Given the description of an element on the screen output the (x, y) to click on. 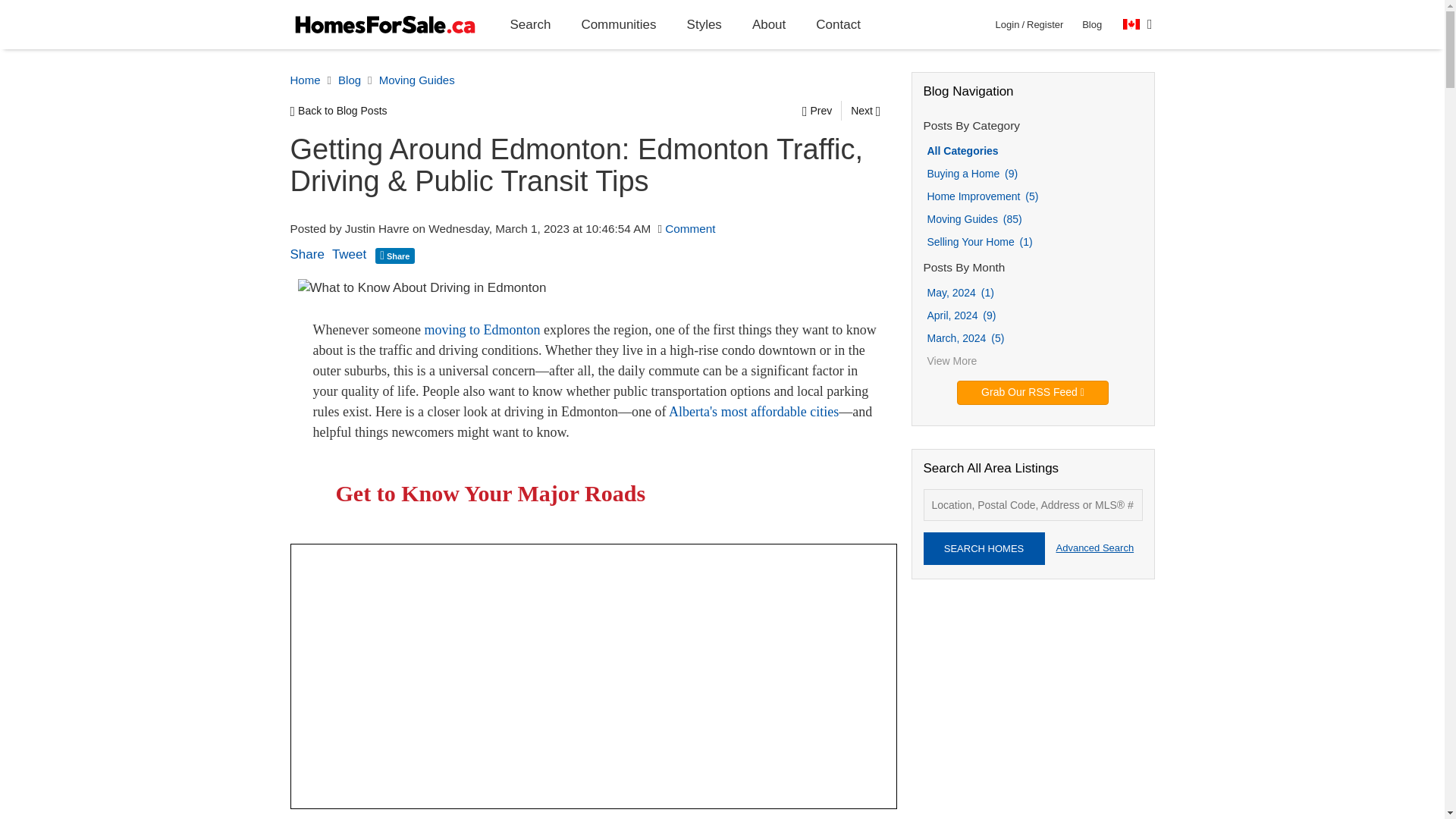
Blog (1091, 24)
Register (1044, 24)
Select Language (1137, 24)
Styles (703, 24)
Search (530, 24)
Communities (618, 24)
Contact (838, 24)
About (768, 24)
